Given the description of an element on the screen output the (x, y) to click on. 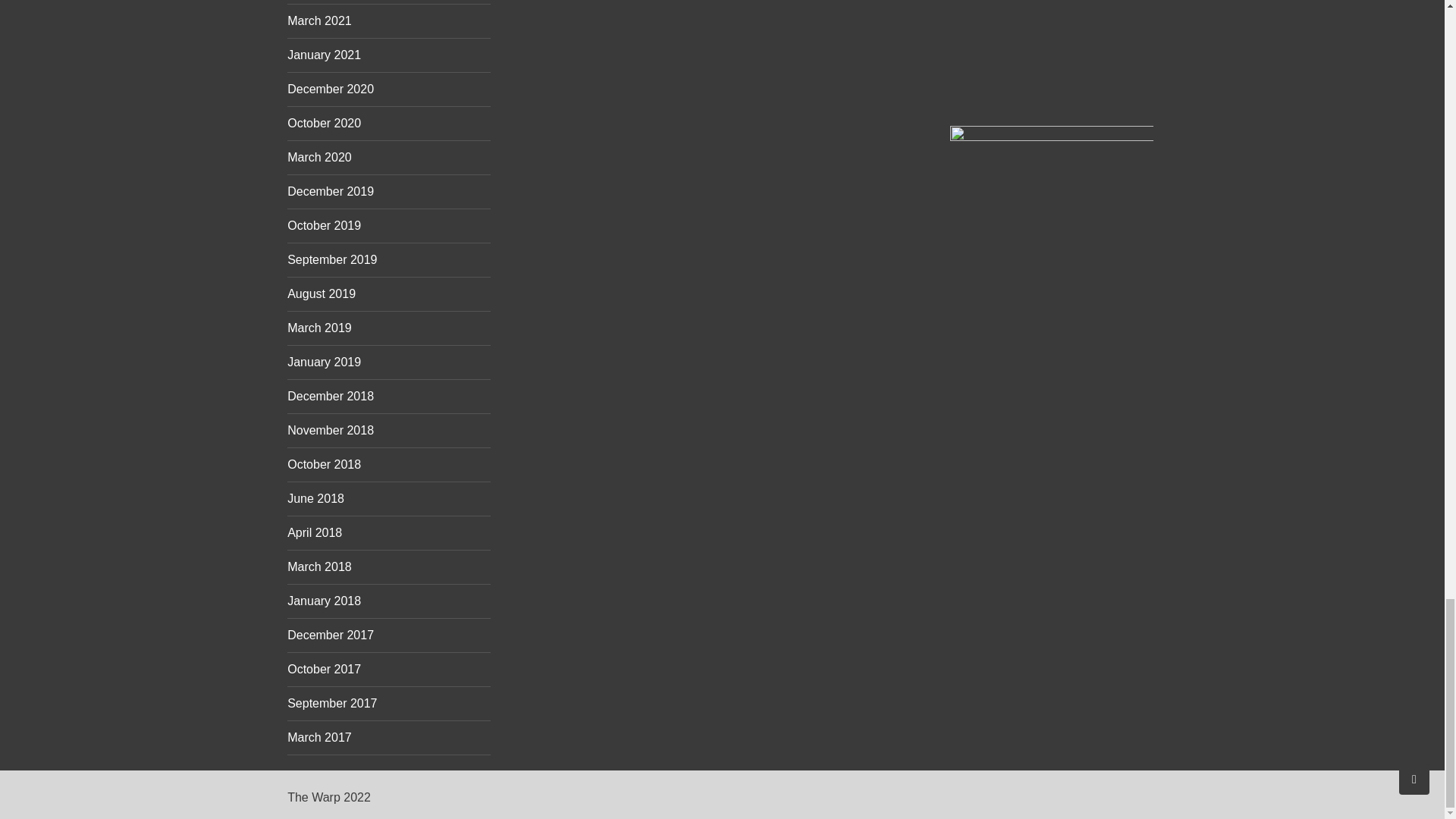
October 2020 (323, 123)
August 2019 (320, 293)
March 2020 (319, 156)
October 2019 (323, 225)
September 2019 (331, 259)
December 2020 (330, 88)
December 2019 (330, 191)
March 2021 (319, 20)
March 2019 (319, 327)
January 2021 (323, 54)
